Given the description of an element on the screen output the (x, y) to click on. 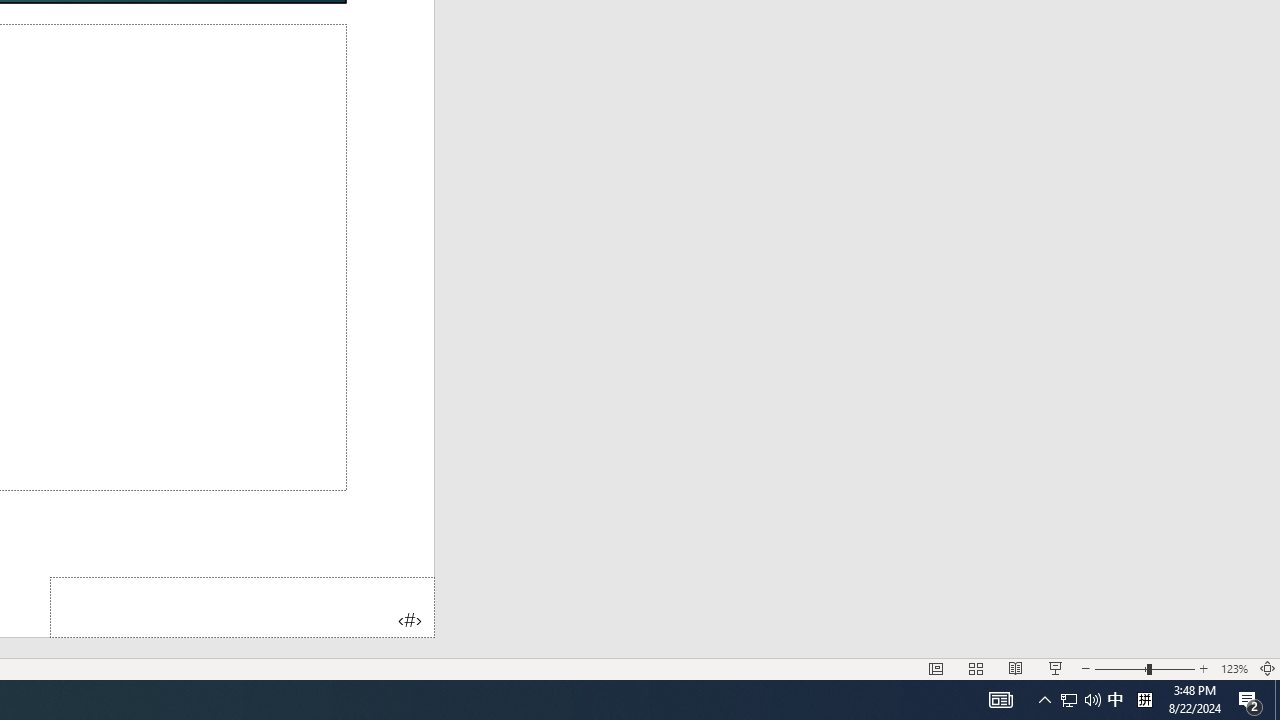
Page Number (242, 606)
Zoom 123% (1234, 668)
